Given the description of an element on the screen output the (x, y) to click on. 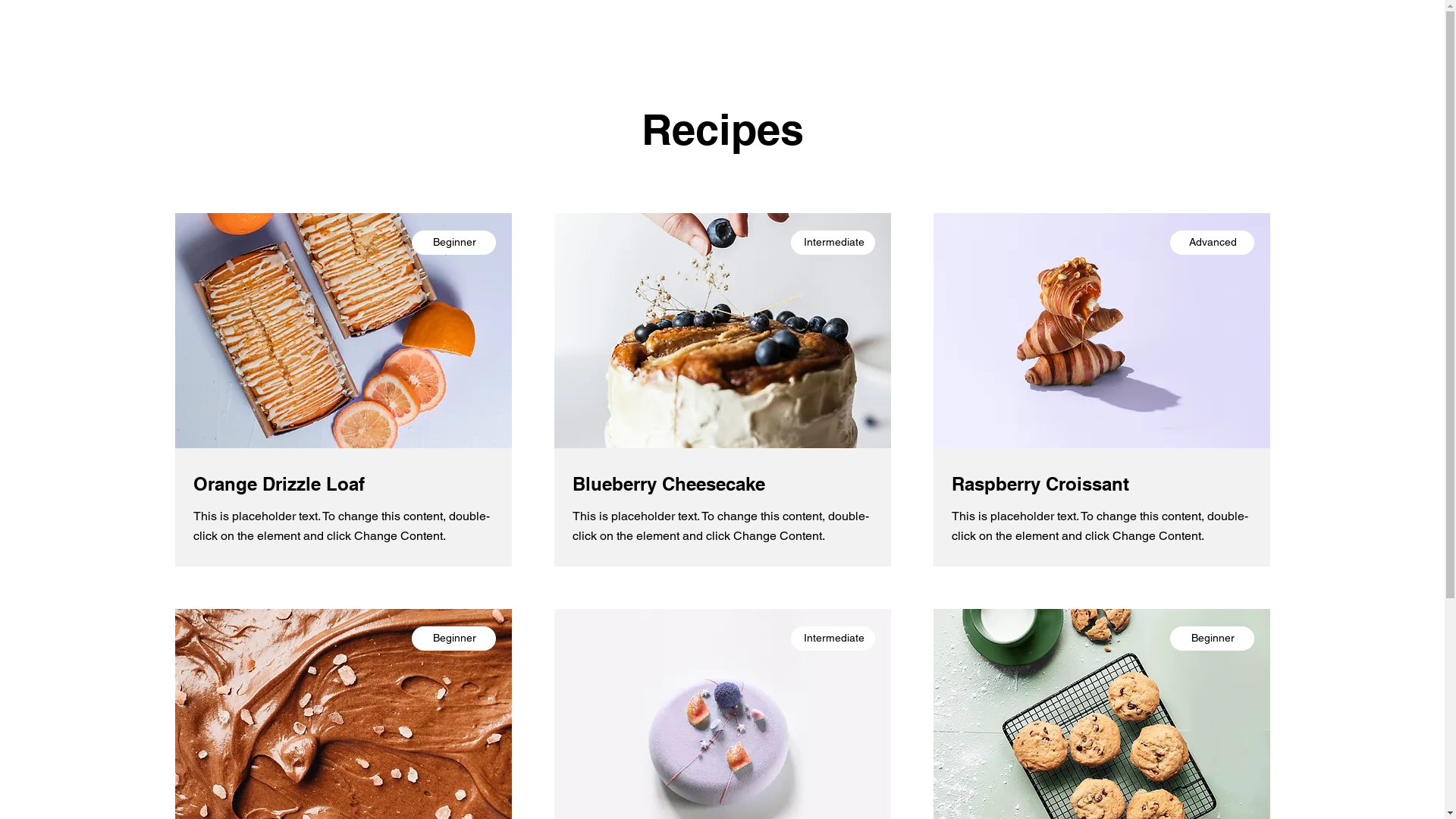
Blueberry Cheesecake.jpg Element type: hover (721, 330)
Orange Cake.jpg Element type: hover (342, 330)
Croissant.jpg Element type: hover (1100, 330)
